Given the description of an element on the screen output the (x, y) to click on. 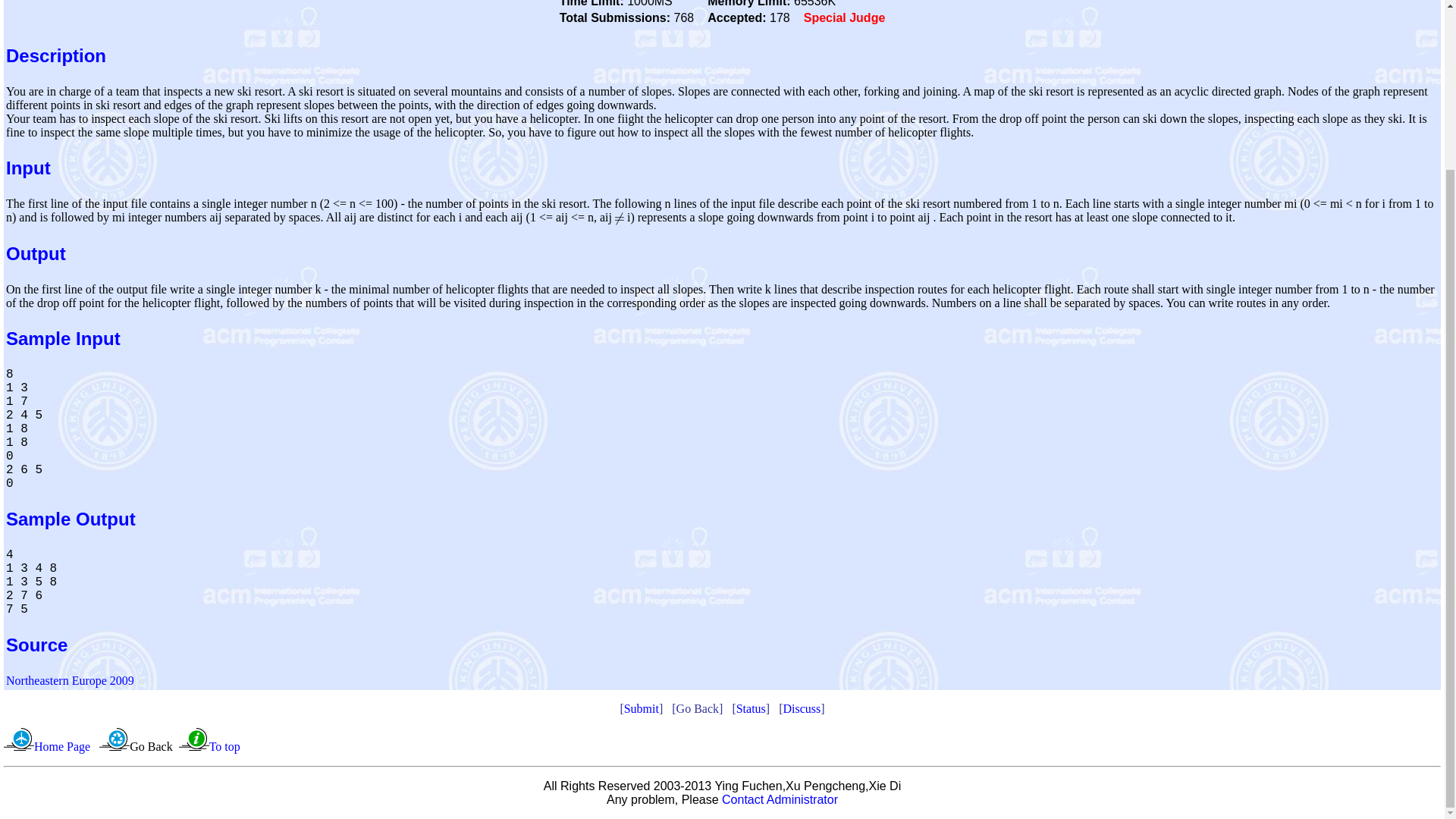
Discuss (802, 707)
Go Back (150, 746)
Northeastern Europe 2009 (69, 680)
Status (750, 707)
To top (224, 746)
Submit (641, 707)
Go Back (698, 707)
Home Page (61, 746)
Contact Administrator (780, 799)
